Given the description of an element on the screen output the (x, y) to click on. 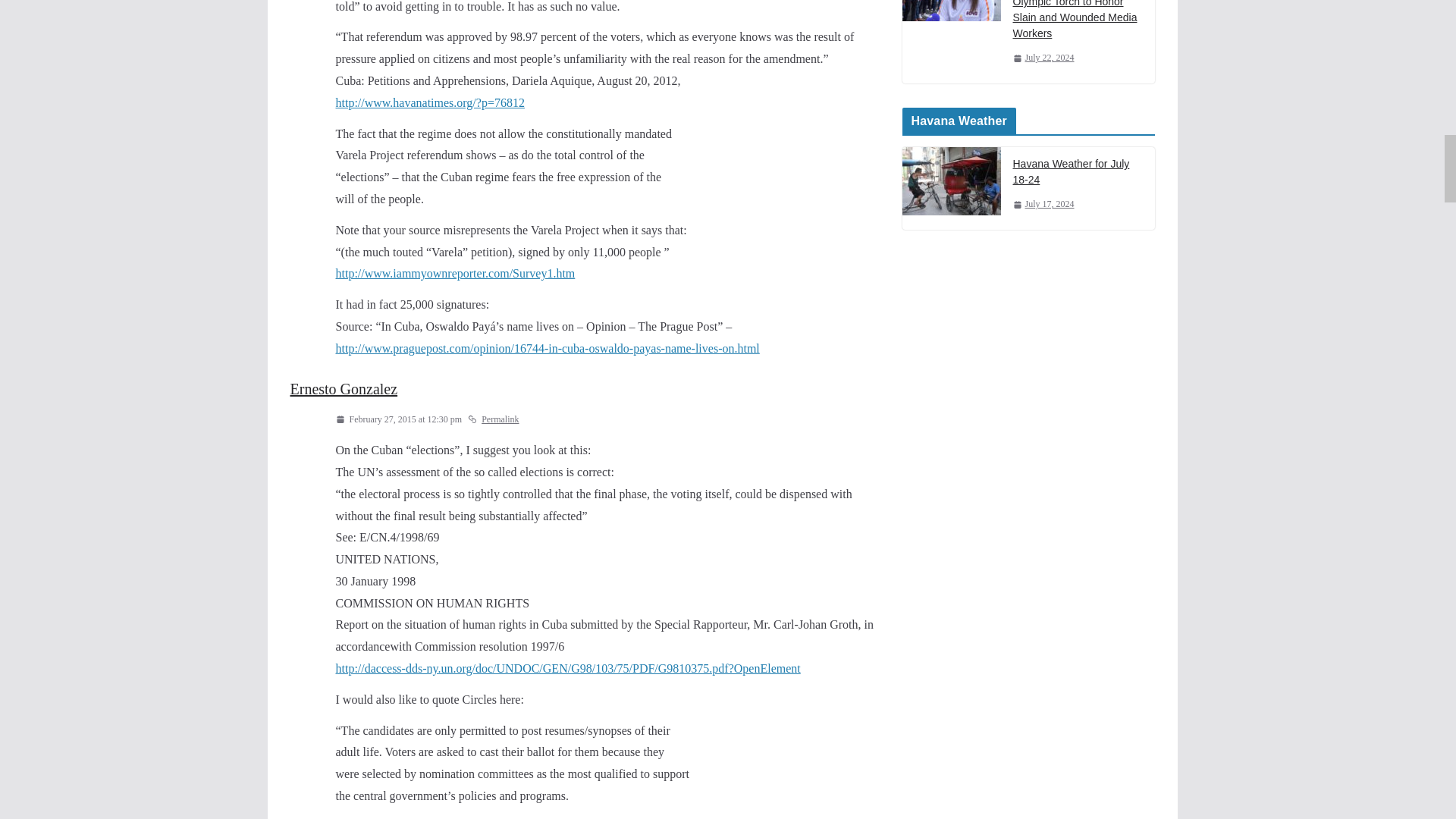
Permalink (492, 419)
Ernesto Gonzalez (343, 388)
